Given the description of an element on the screen output the (x, y) to click on. 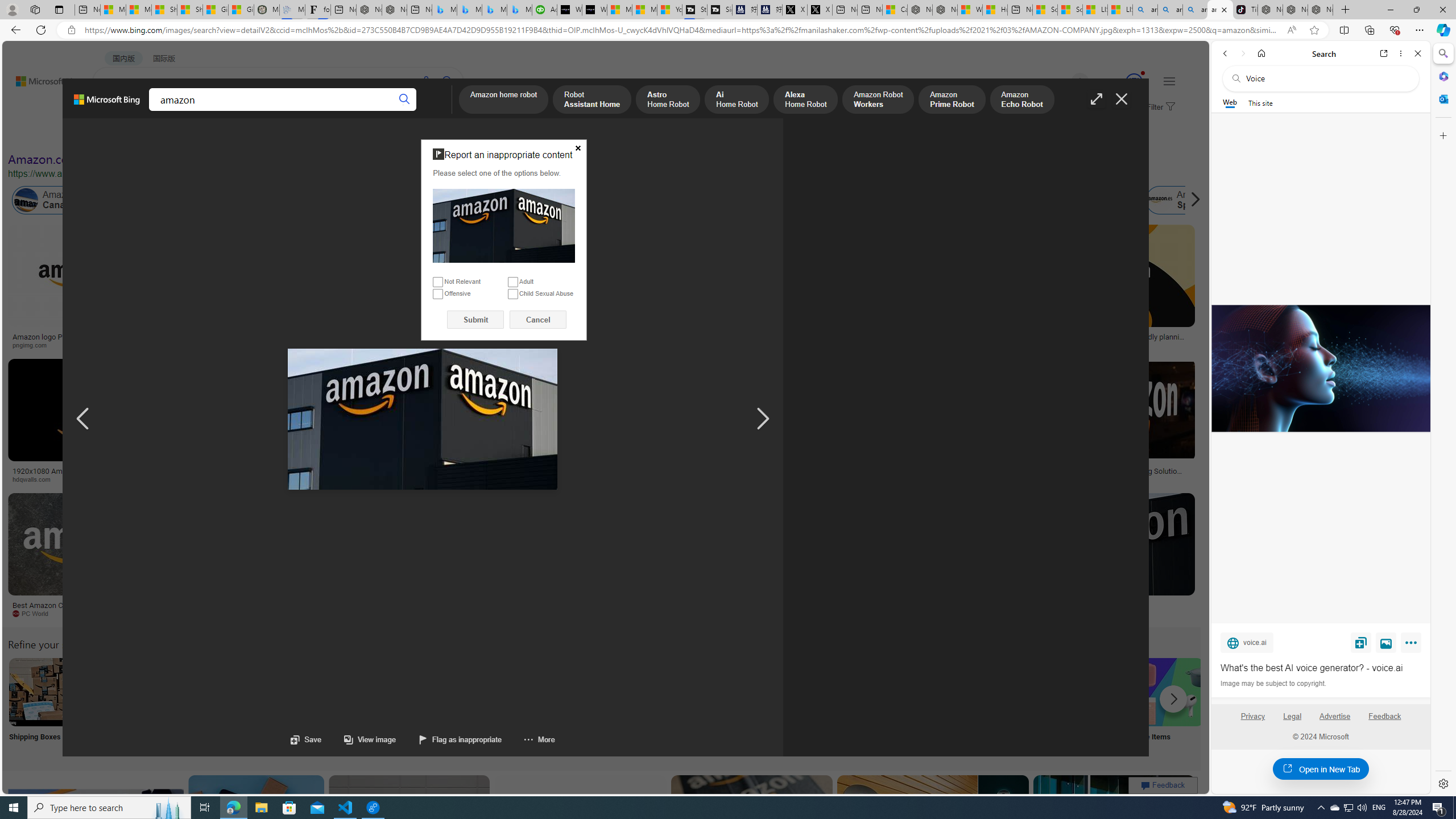
Amazon Robot Workers (878, 100)
Amazon Kids (239, 200)
Robot Assistant Home (592, 100)
Amazon Spain (1183, 199)
Image may be subject to copyright. (1273, 682)
Amazon Labor Law Violation in California (642, 199)
Jobs Near Me (342, 706)
aiophotoz.com (378, 613)
PC World (83, 613)
Side bar (1443, 418)
